Given the description of an element on the screen output the (x, y) to click on. 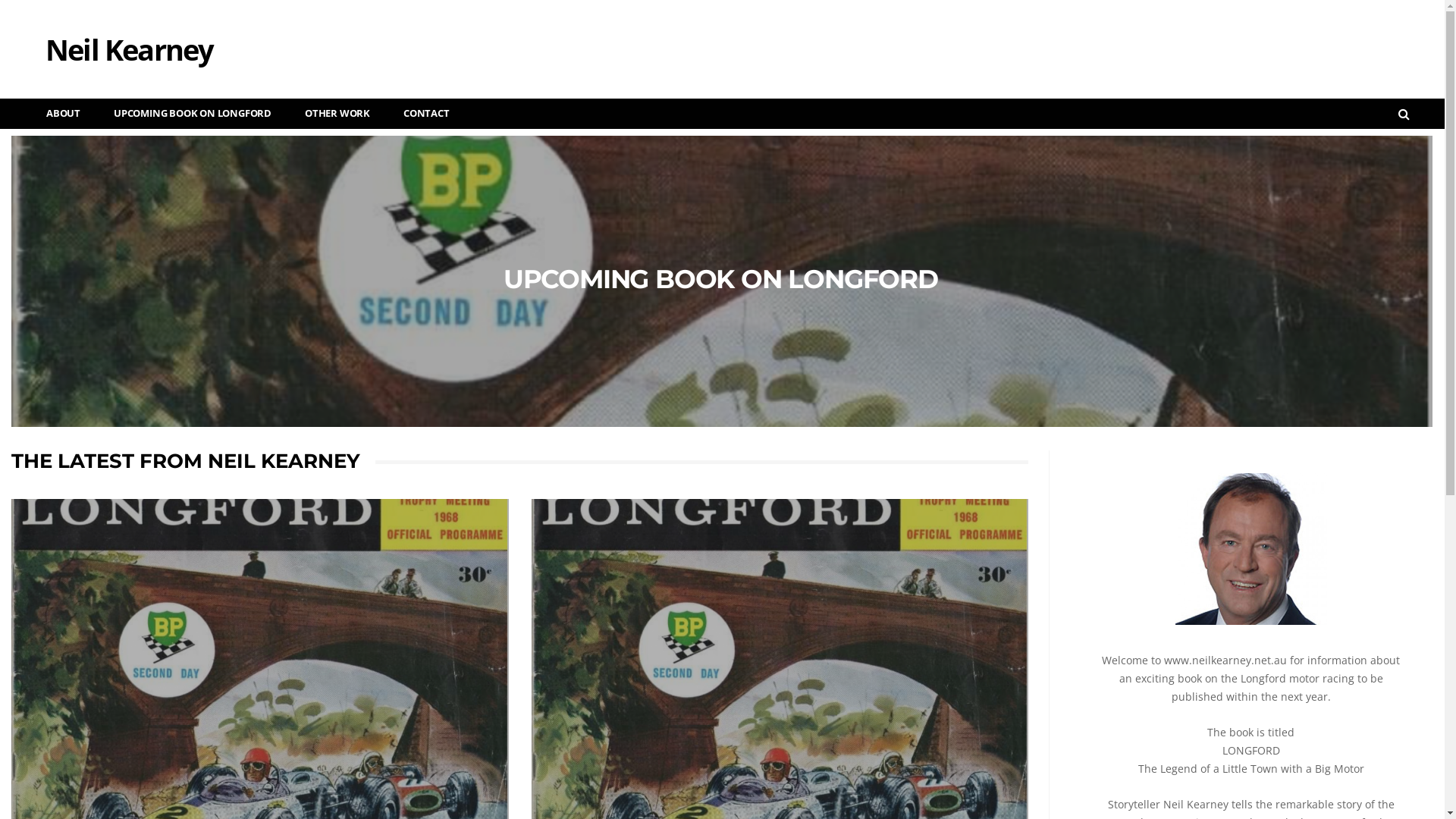
Neil Kearney Element type: text (113, 34)
UPCOMING BOOK ON LONGFORD Element type: text (186, 113)
CONTACT Element type: text (420, 113)
UPCOMING BOOK ON LONGFORD Element type: text (721, 280)
OTHER WORK Element type: text (331, 113)
ABOUT Element type: text (57, 113)
